Given the description of an element on the screen output the (x, y) to click on. 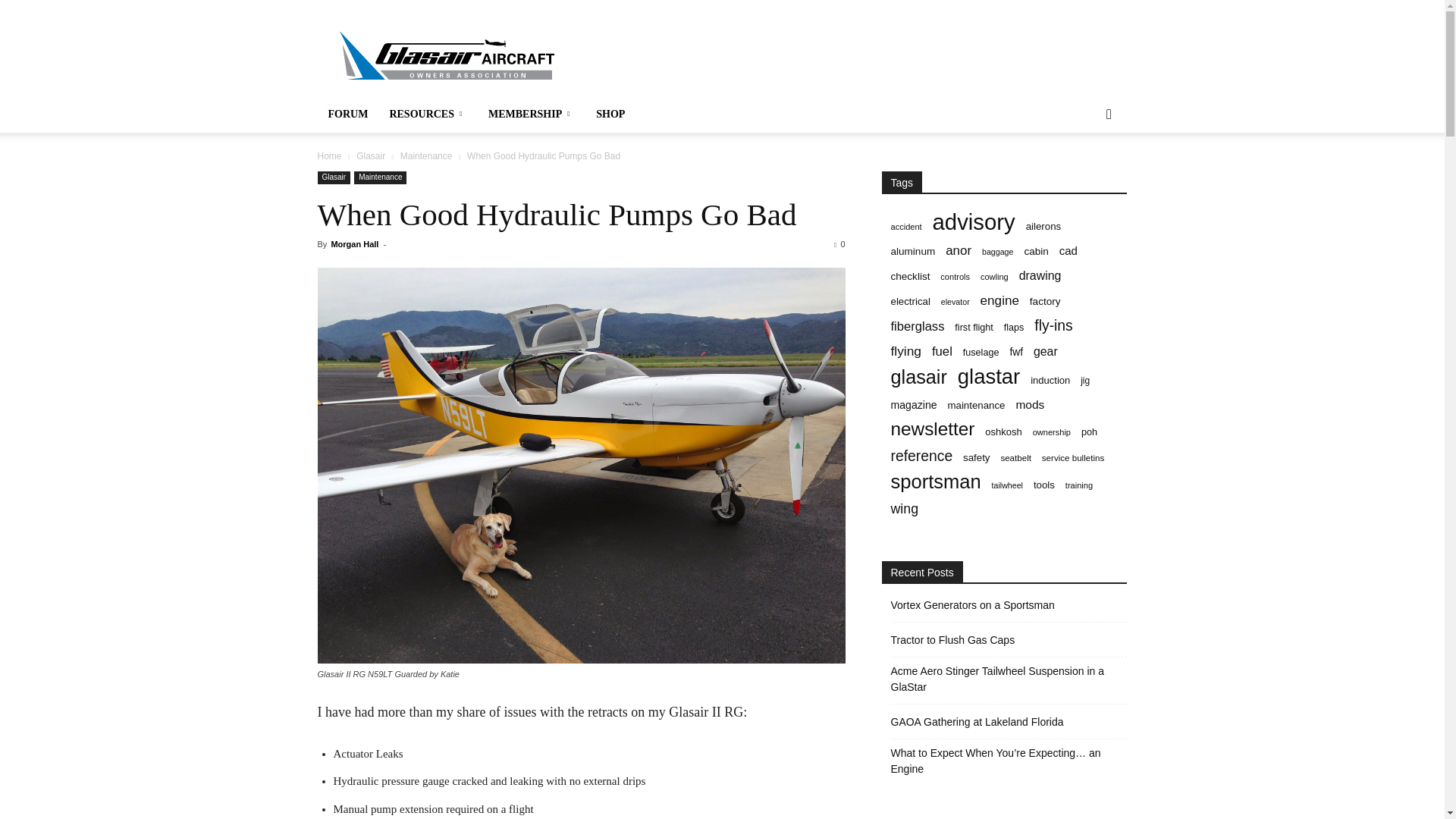
Glasair Aircraft Owners Association (445, 55)
View all posts in Maintenance (426, 155)
MEMBERSHIP (531, 114)
FORUM (347, 114)
RESOURCES (427, 114)
View all posts in Glasair (370, 155)
